Given the description of an element on the screen output the (x, y) to click on. 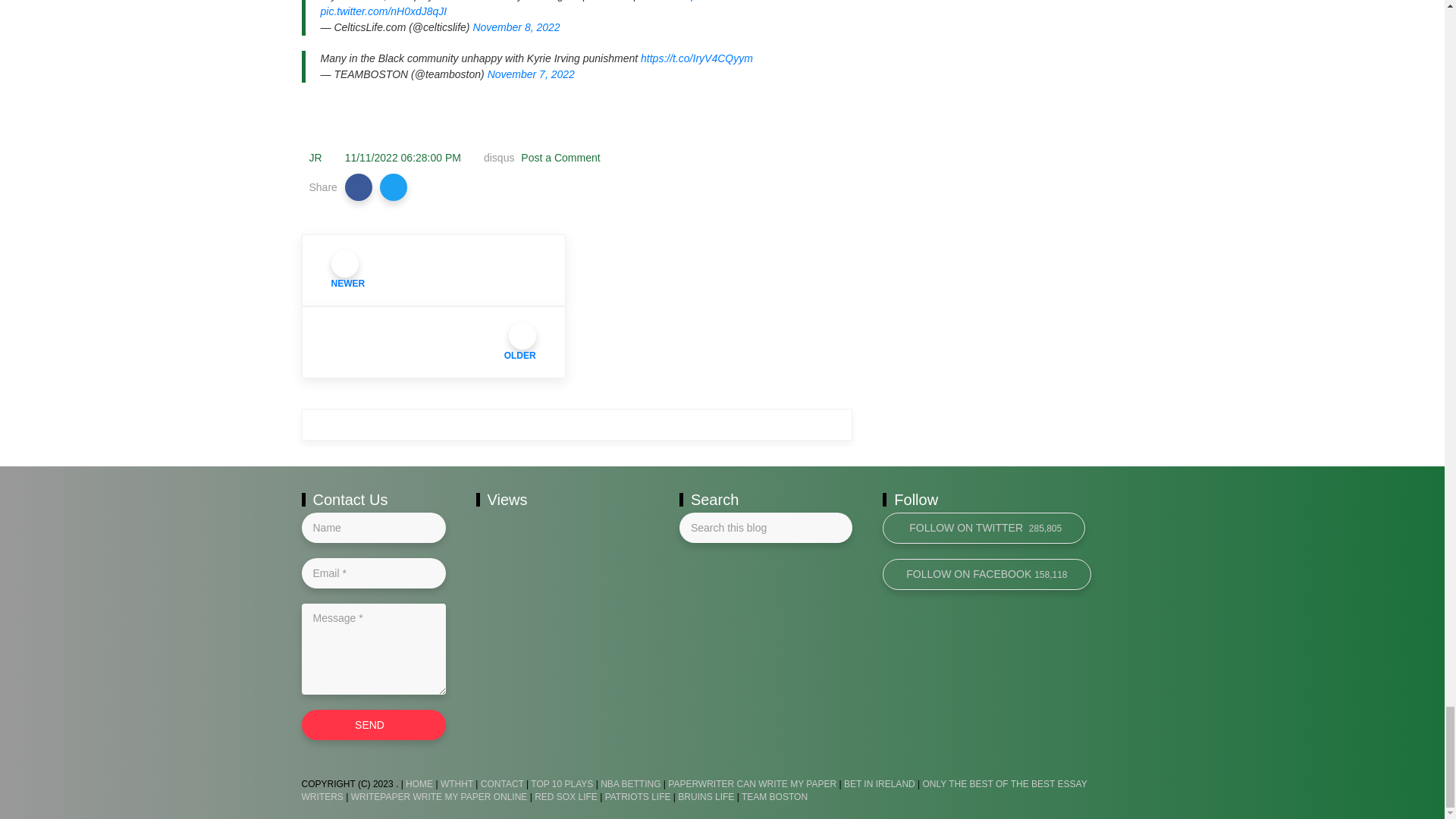
JR (314, 157)
author profile (314, 157)
November 8, 2022 (515, 27)
OLDER (433, 342)
Post a Comment (558, 157)
November 7, 2022 (531, 73)
permanent link (403, 157)
Share to Facebook (358, 186)
Share to Twitter (393, 186)
NEWER (433, 270)
